Given the description of an element on the screen output the (x, y) to click on. 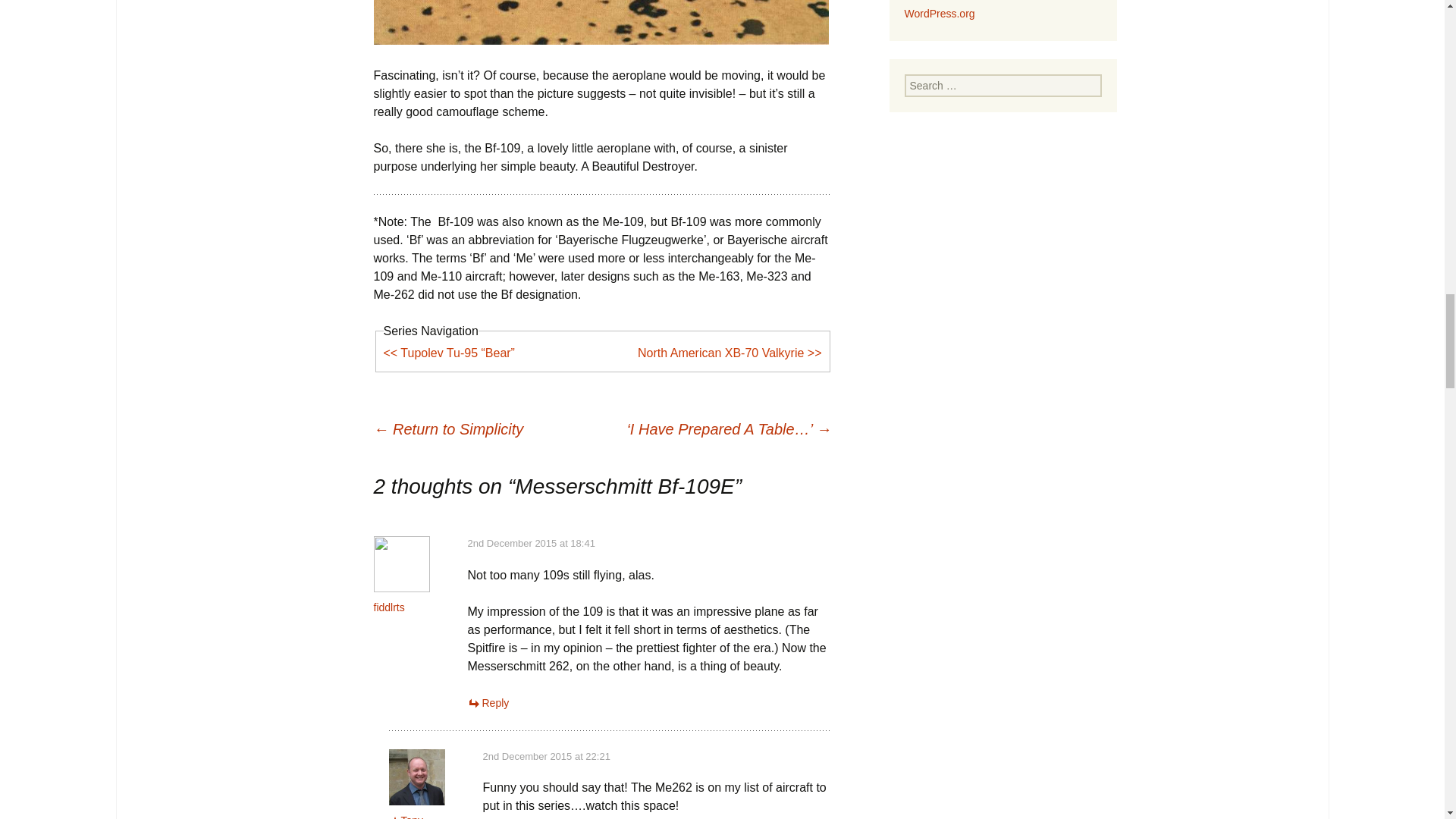
Reply (487, 702)
2nd December 2015 at 18:41 (530, 542)
fiddlrts (388, 607)
2nd December 2015 at 22:21 (545, 756)
